Given the description of an element on the screen output the (x, y) to click on. 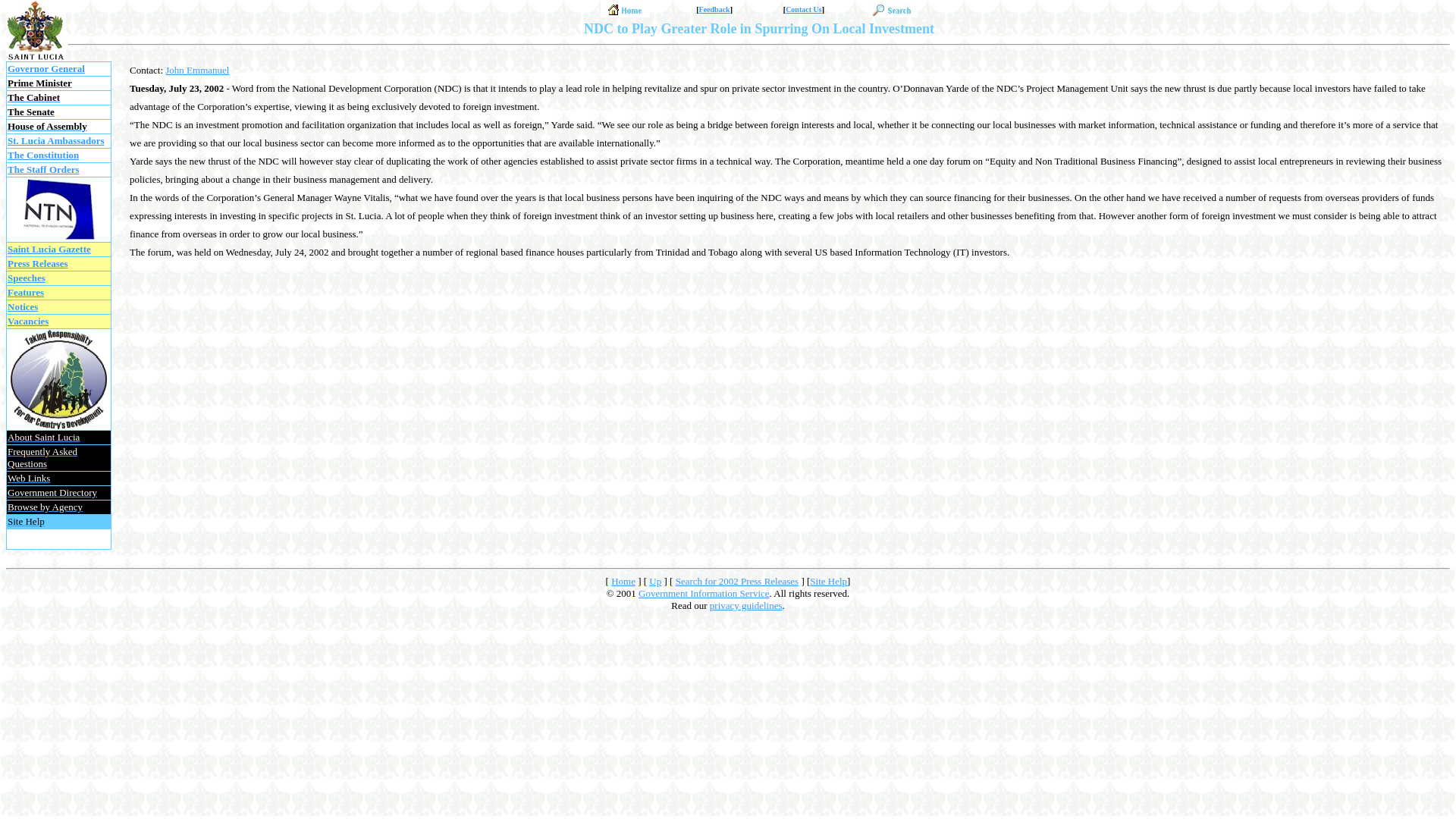
Government Directory (52, 491)
Contact Us (804, 8)
Site Help (26, 521)
About Saint Lucia (43, 436)
privacy guidelines (746, 604)
Web Links (28, 477)
Home (622, 581)
Speeches (26, 277)
Governor General (45, 68)
Phone, Fax, E-mail or Submit Form (804, 8)
